Given the description of an element on the screen output the (x, y) to click on. 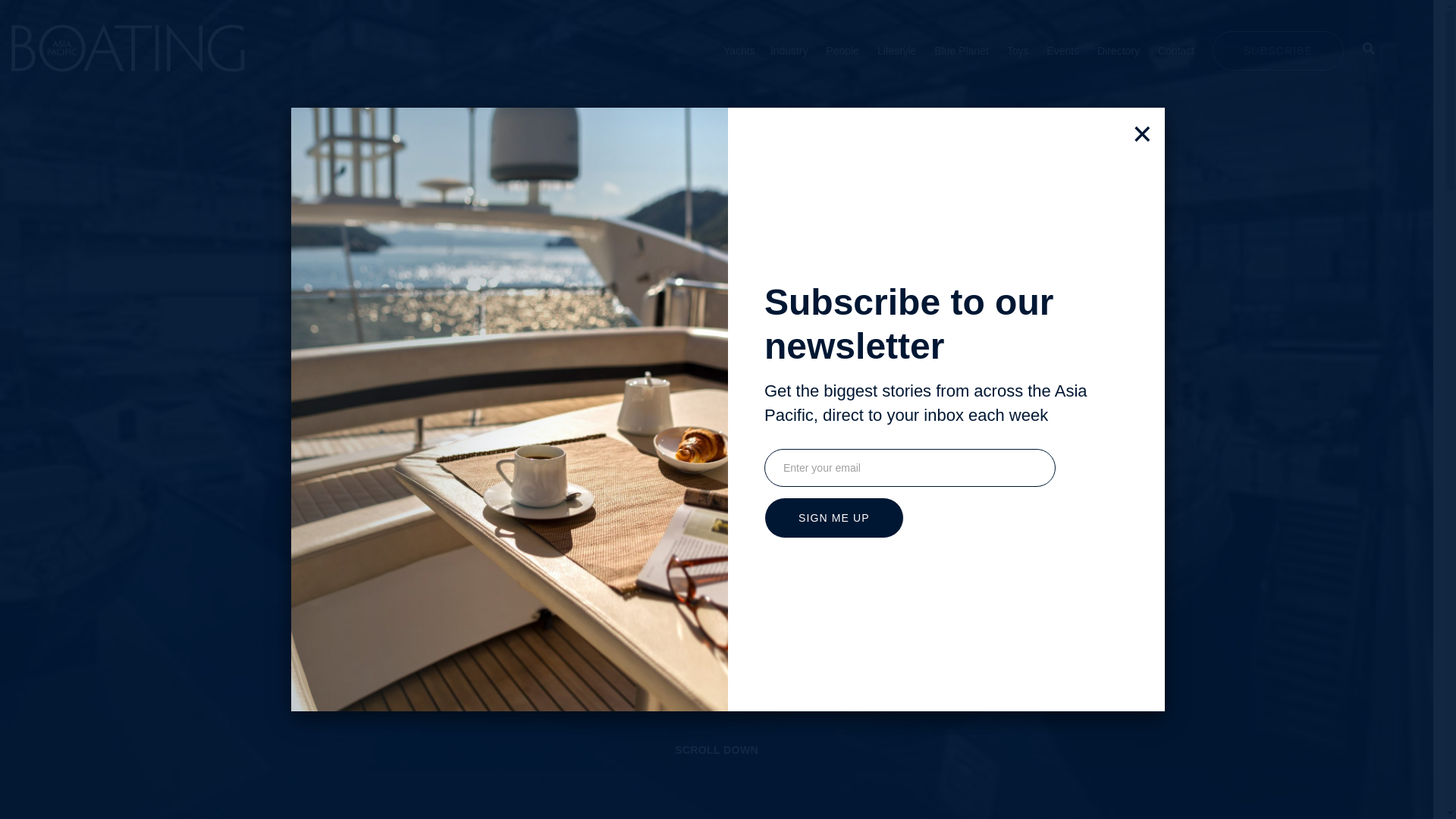
SCROLL DOWN (716, 775)
People (842, 50)
SCROLL DOWN (716, 750)
Sign me up (834, 517)
Toys (1018, 50)
Contact (1175, 50)
Blue Planet (961, 50)
SUBSCRIBE (1277, 49)
Directory (1118, 50)
Industry (789, 50)
Events (1062, 50)
